Given the description of an element on the screen output the (x, y) to click on. 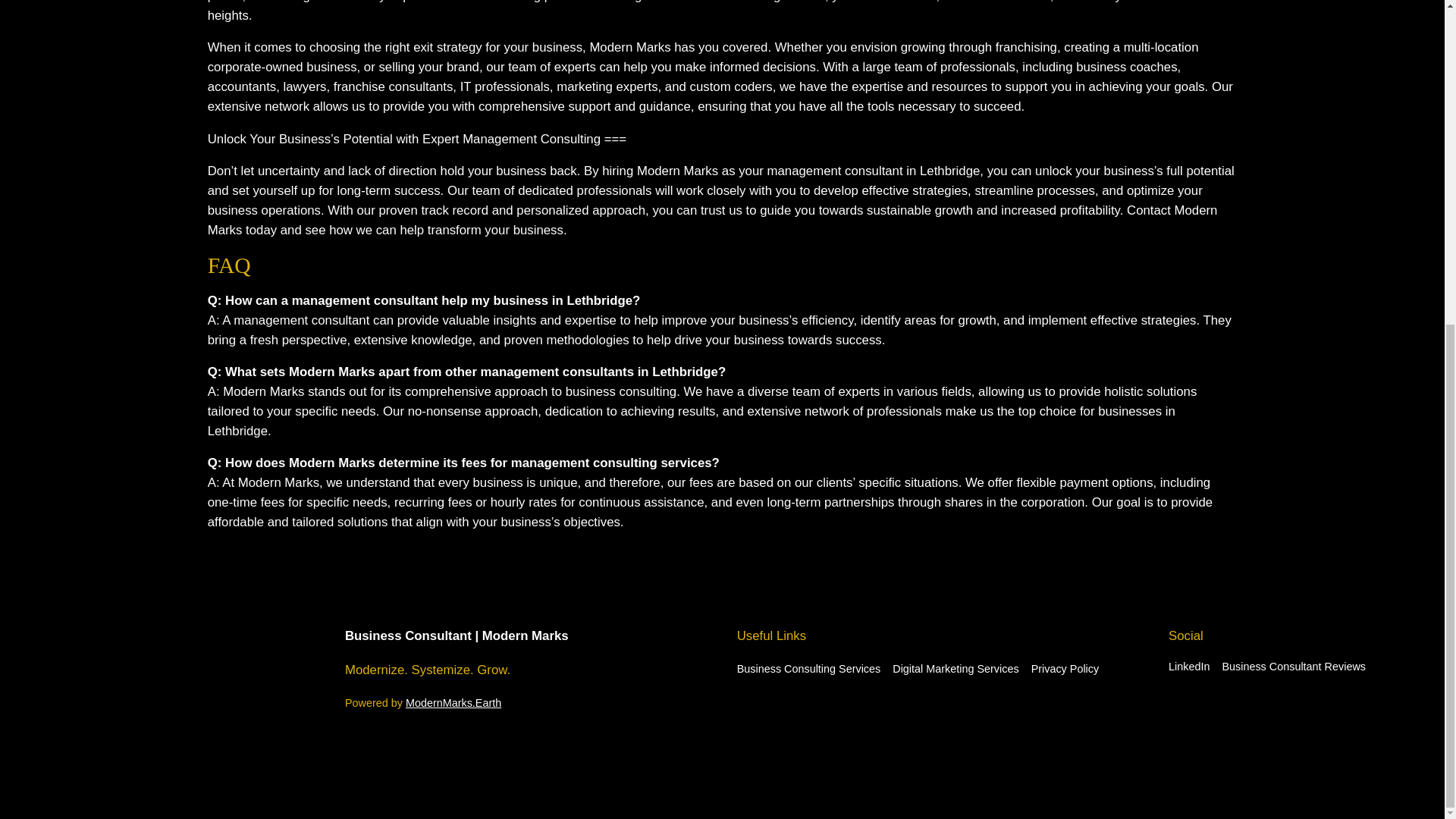
LinkedIn (1189, 666)
Business Consultant Reviews (1293, 666)
ModernMarks.Earth (453, 702)
Digital Marketing Services (954, 668)
Privacy Policy (1064, 668)
Business Consulting Services (808, 668)
